Given the description of an element on the screen output the (x, y) to click on. 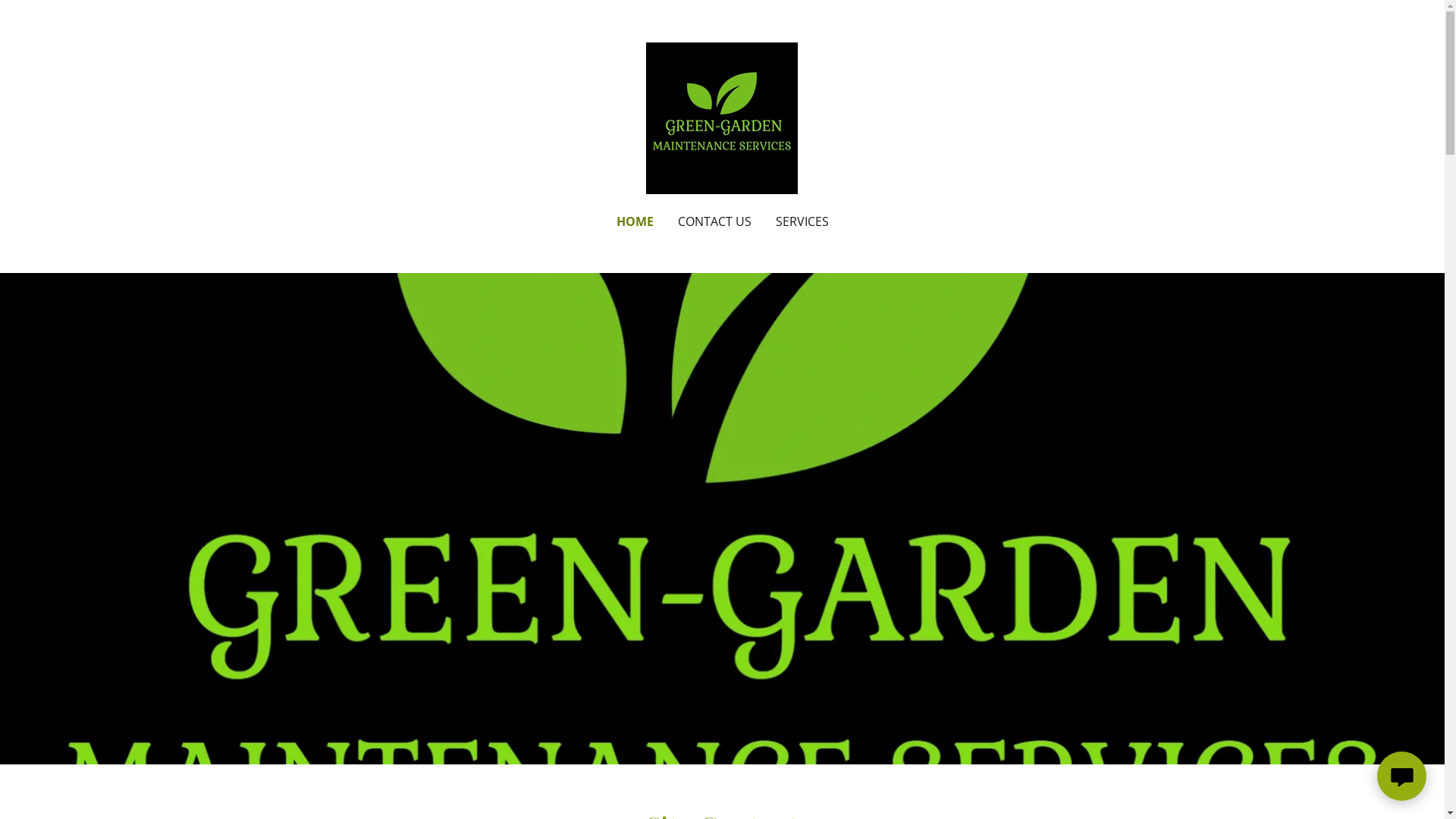
SERVICES Element type: text (801, 221)
GREEN-GARDEN
MAINTENANCE SERVICES Element type: hover (721, 116)
HOME Element type: text (633, 221)
CONTACT US Element type: text (714, 221)
